Given the description of an element on the screen output the (x, y) to click on. 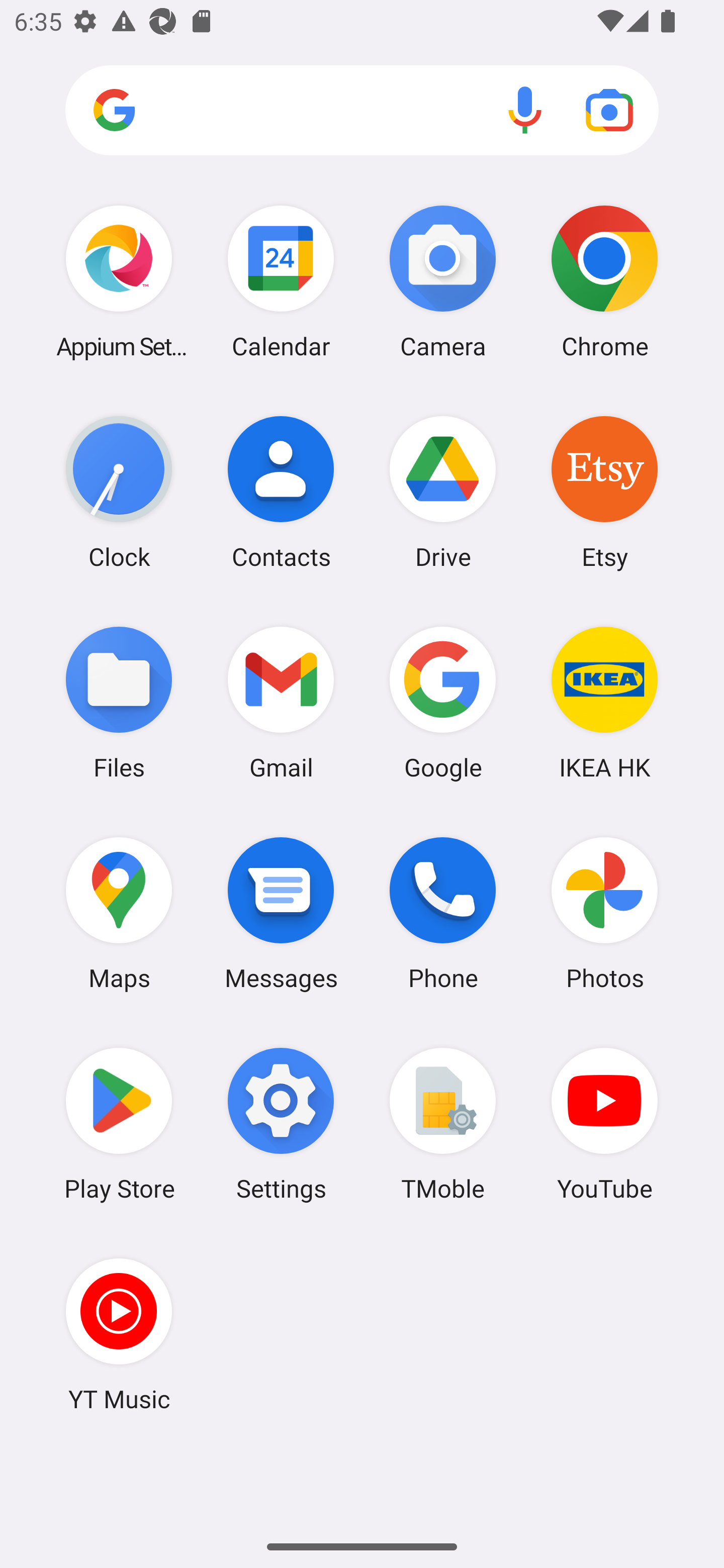
Search apps, web and more (361, 110)
Voice search (524, 109)
Google Lens (608, 109)
Appium Settings (118, 281)
Calendar (280, 281)
Camera (443, 281)
Chrome (604, 281)
Clock (118, 492)
Contacts (280, 492)
Drive (443, 492)
Etsy (604, 492)
Files (118, 702)
Gmail (280, 702)
Google (443, 702)
IKEA HK (604, 702)
Maps (118, 913)
Messages (280, 913)
Phone (443, 913)
Photos (604, 913)
Play Store (118, 1124)
Settings (280, 1124)
TMoble (443, 1124)
YouTube (604, 1124)
YT Music (118, 1334)
